Given the description of an element on the screen output the (x, y) to click on. 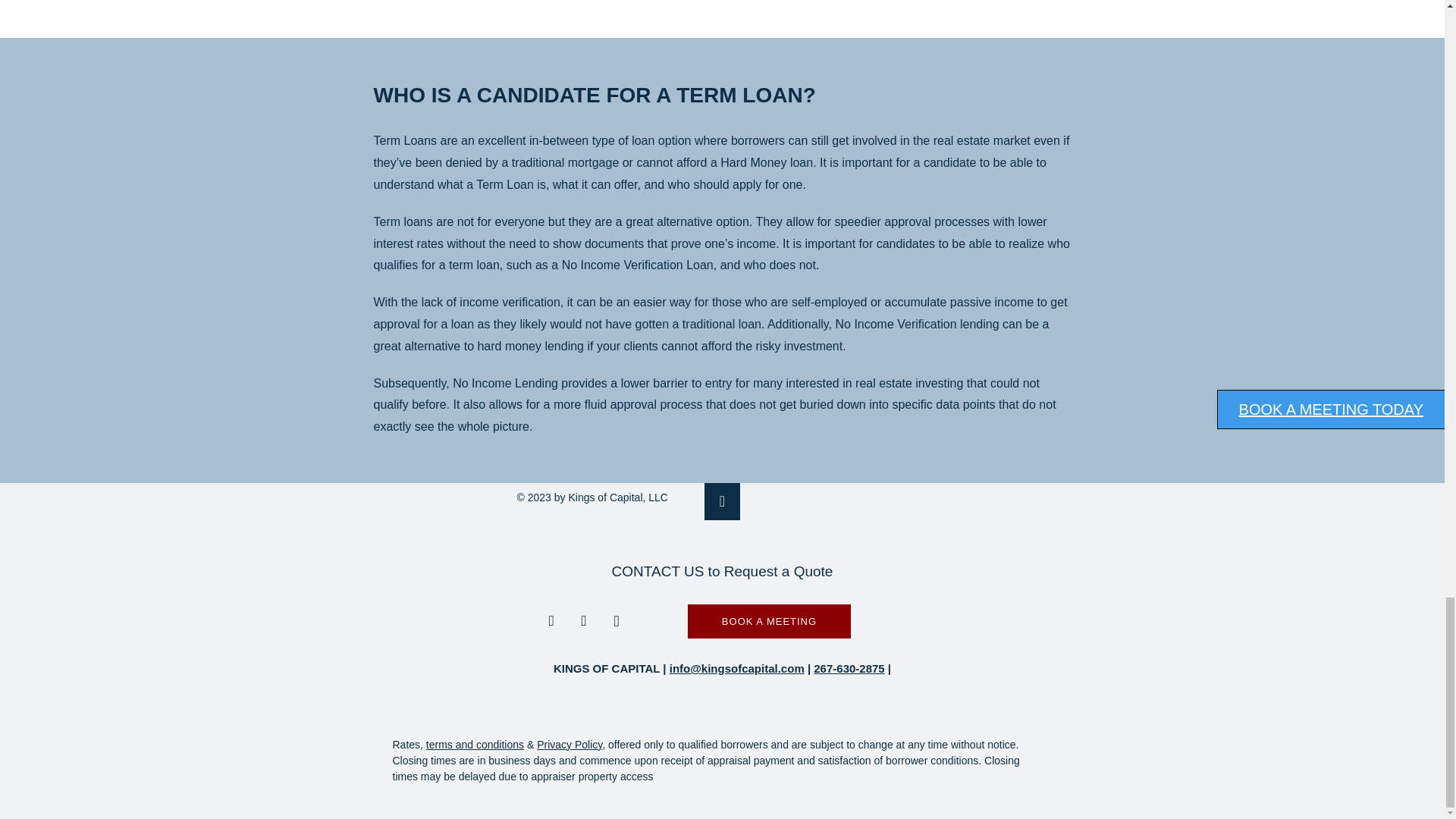
terms and conditions (475, 744)
Privacy Policy (569, 744)
267-630-2875 (848, 667)
BOOK A MEETING (768, 621)
